Given the description of an element on the screen output the (x, y) to click on. 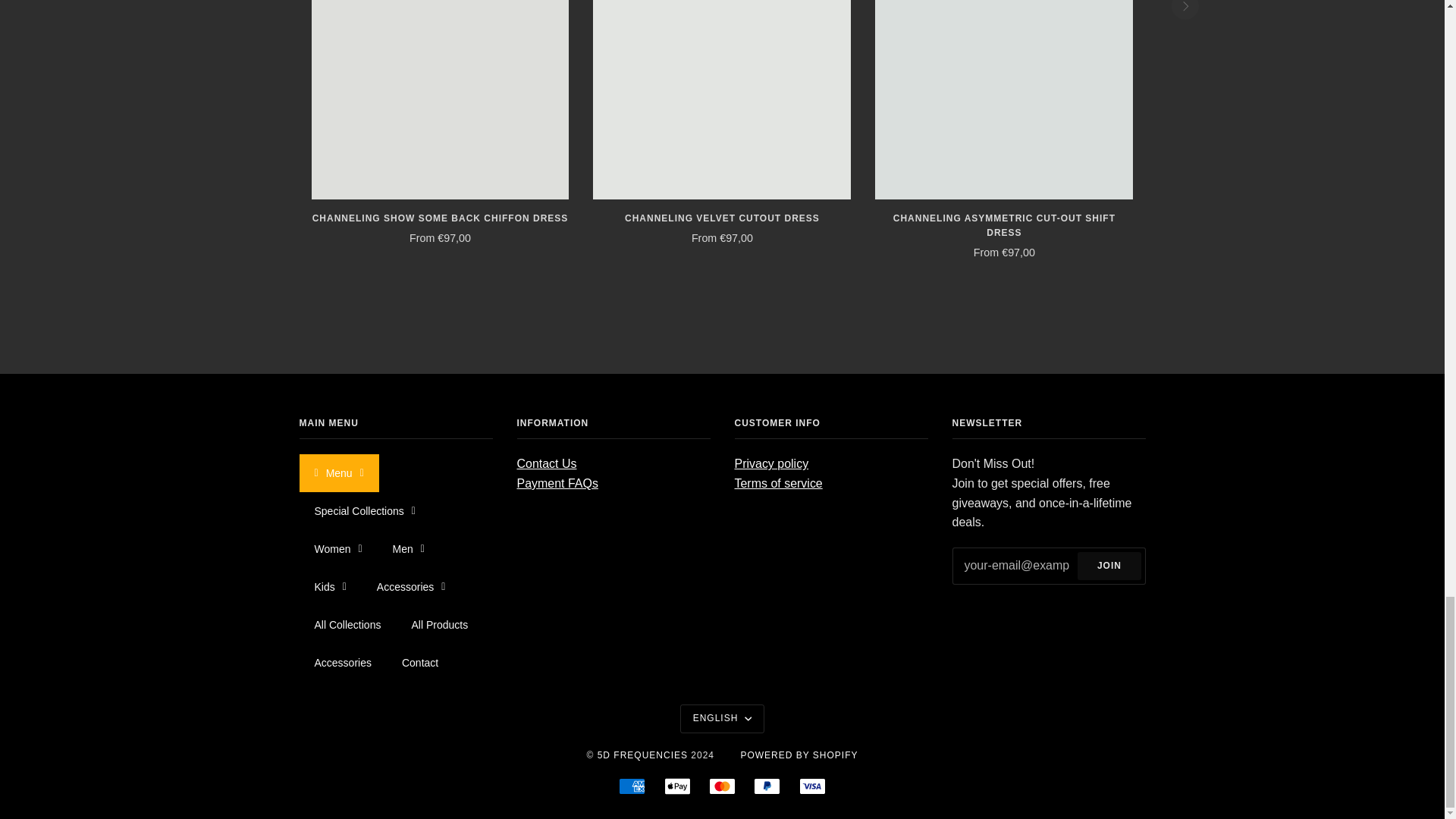
Menu (338, 473)
APPLE PAY (676, 786)
AMERICAN EXPRESS (631, 786)
PAYPAL (767, 786)
MASTERCARD (722, 786)
VISA (812, 786)
